Given the description of an element on the screen output the (x, y) to click on. 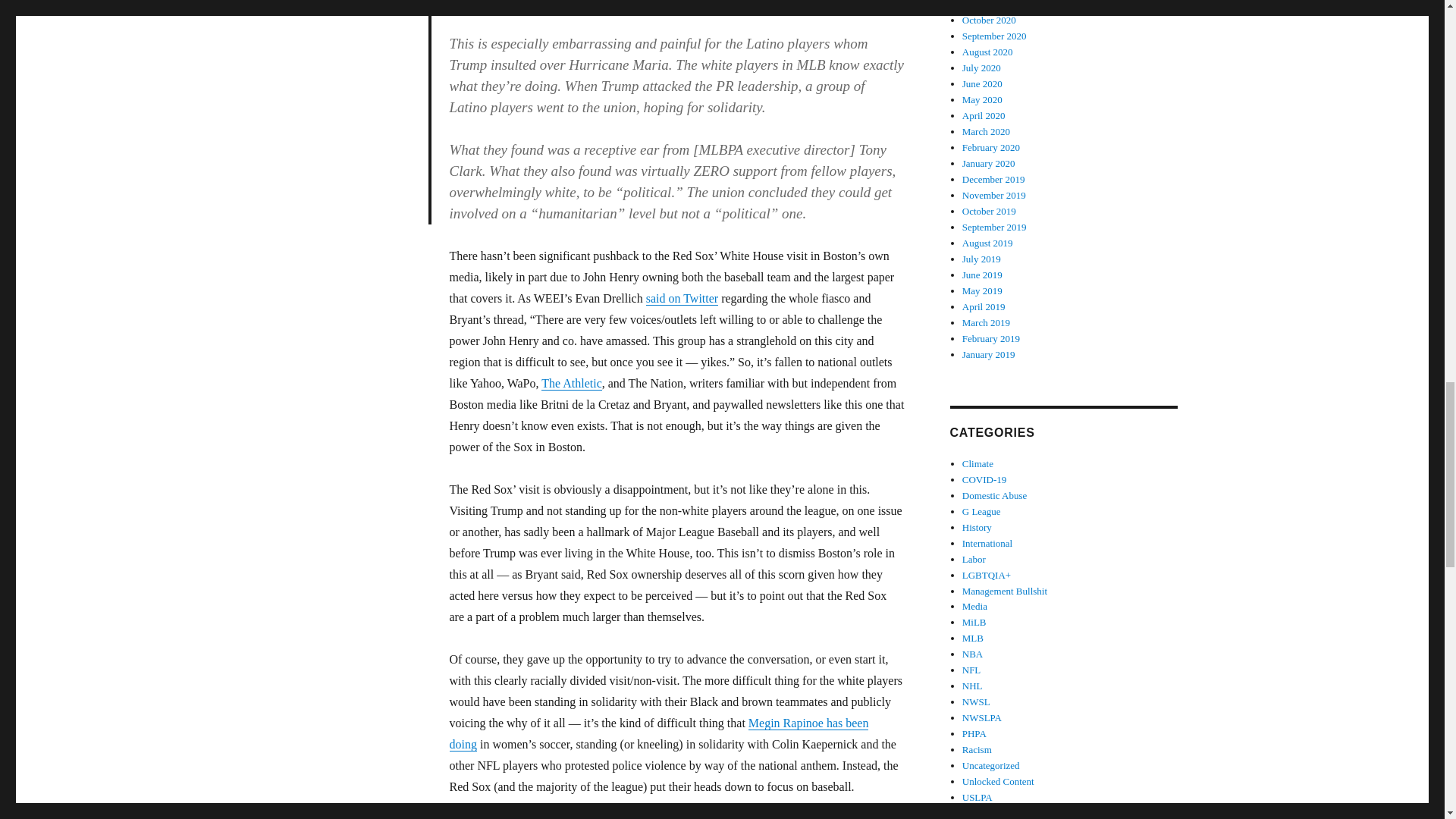
The Athletic (571, 382)
said on Twitter (681, 297)
Megin Rapinoe has been doing (657, 733)
